Given the description of an element on the screen output the (x, y) to click on. 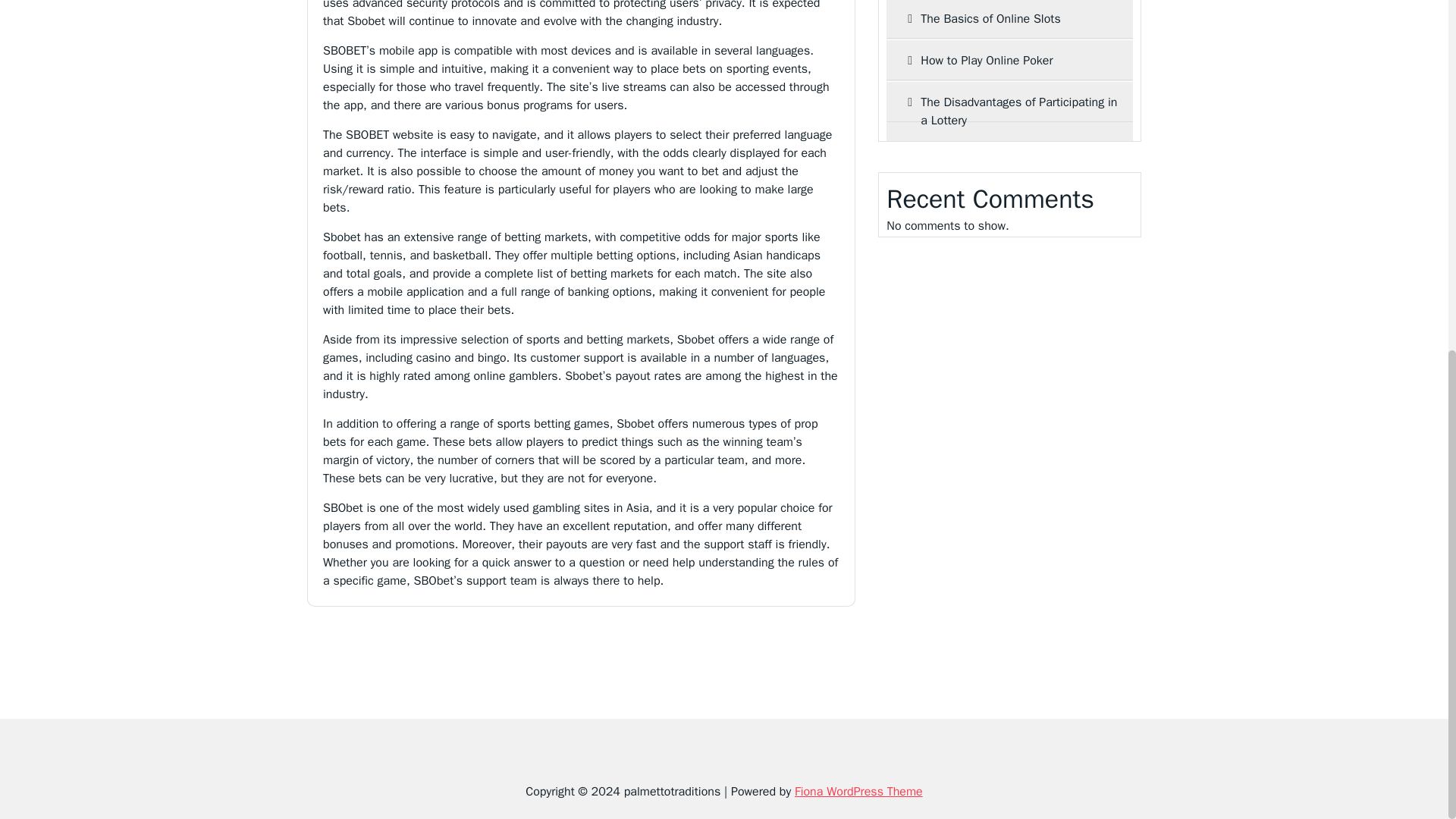
The Disadvantages of Participating in a Lottery (1009, 110)
How to Play Online Poker (1009, 60)
Fiona WordPress Theme (858, 791)
The Basics of Online Slots (1009, 19)
